Given the description of an element on the screen output the (x, y) to click on. 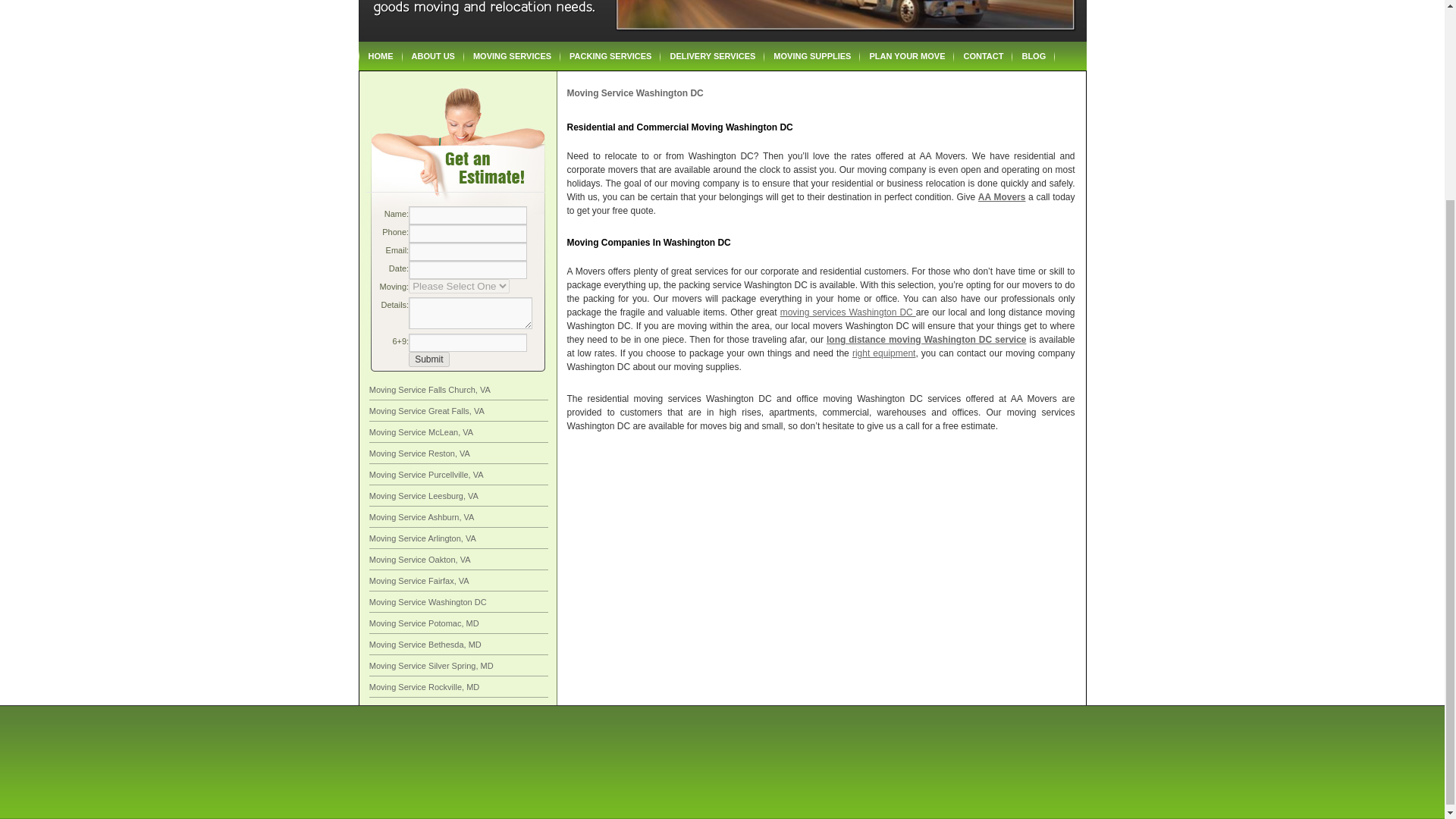
PACKING SERVICES (610, 56)
Moving Service McLean, VA (421, 431)
MOVING SUPPLIES (812, 56)
Moving Service Silver Spring, MD (431, 665)
Submit (428, 359)
BLOG (1032, 56)
PLAN YOUR MOVE (906, 56)
Moving Service Leesburg, VA (424, 495)
Moving Service Washington DC (427, 601)
Moving Service Bethesda, MD (425, 644)
